Given the description of an element on the screen output the (x, y) to click on. 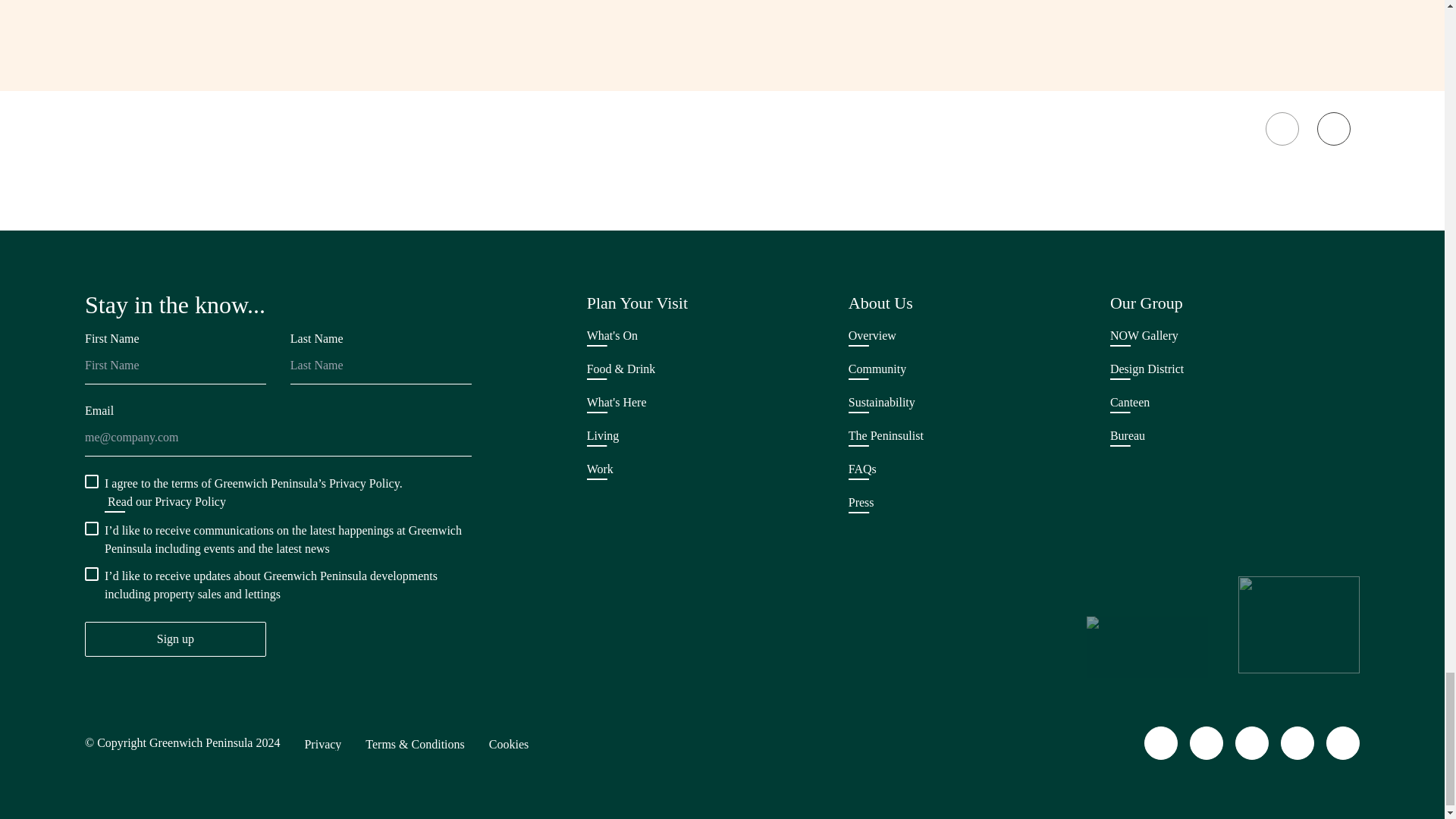
What's Here (616, 403)
Living (603, 436)
Sign up (175, 638)
What's On (611, 336)
 Read our Privacy Policy (172, 504)
